Given the description of an element on the screen output the (x, y) to click on. 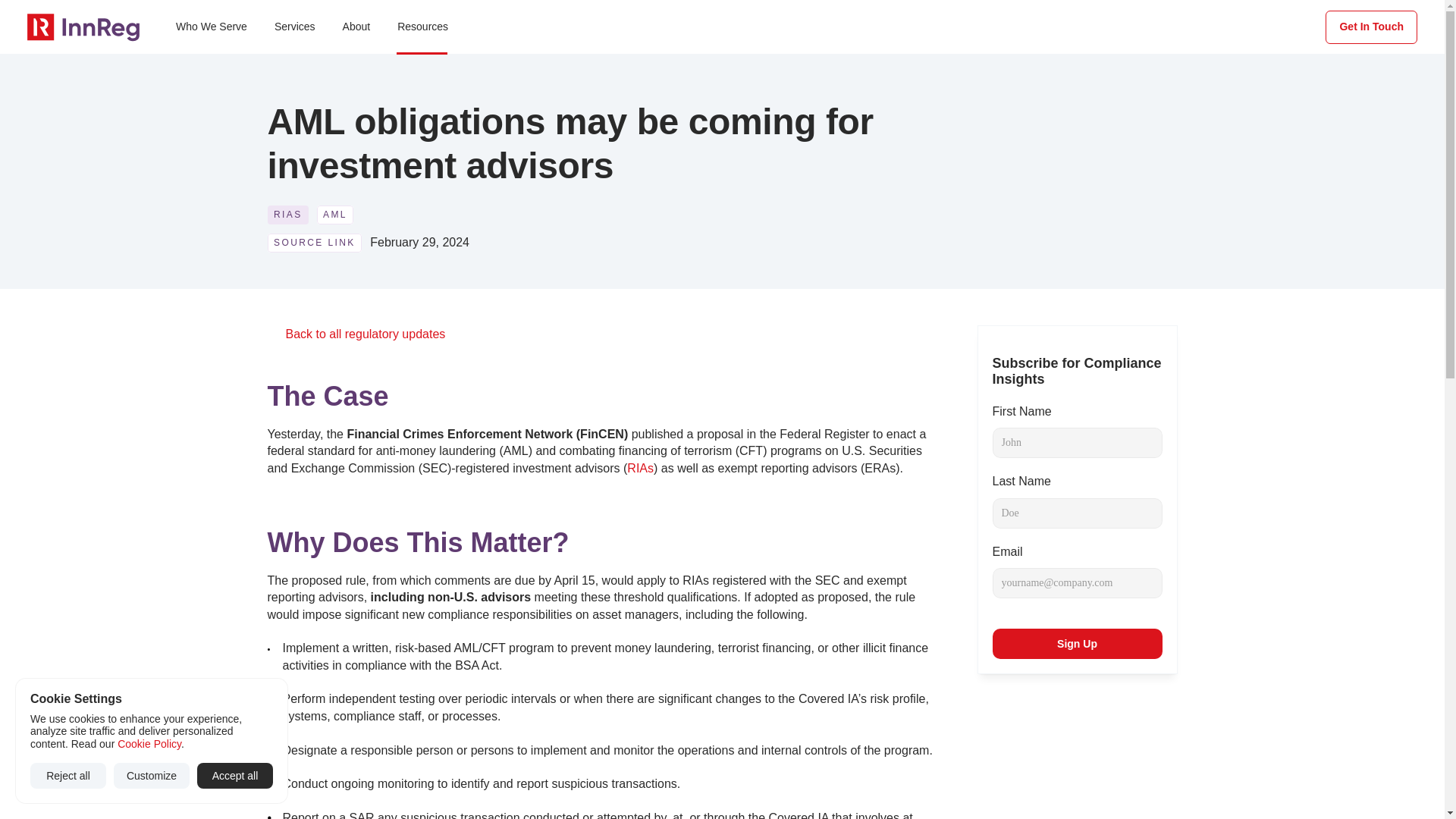
SOURCE LINK (313, 242)
AML (335, 214)
Resources (422, 27)
Get In Touch (1370, 27)
Back to all regulatory updates (365, 333)
RIAs (640, 468)
Who We Serve (211, 27)
RIAS (286, 214)
Services (294, 27)
Reject all (68, 775)
